Given the description of an element on the screen output the (x, y) to click on. 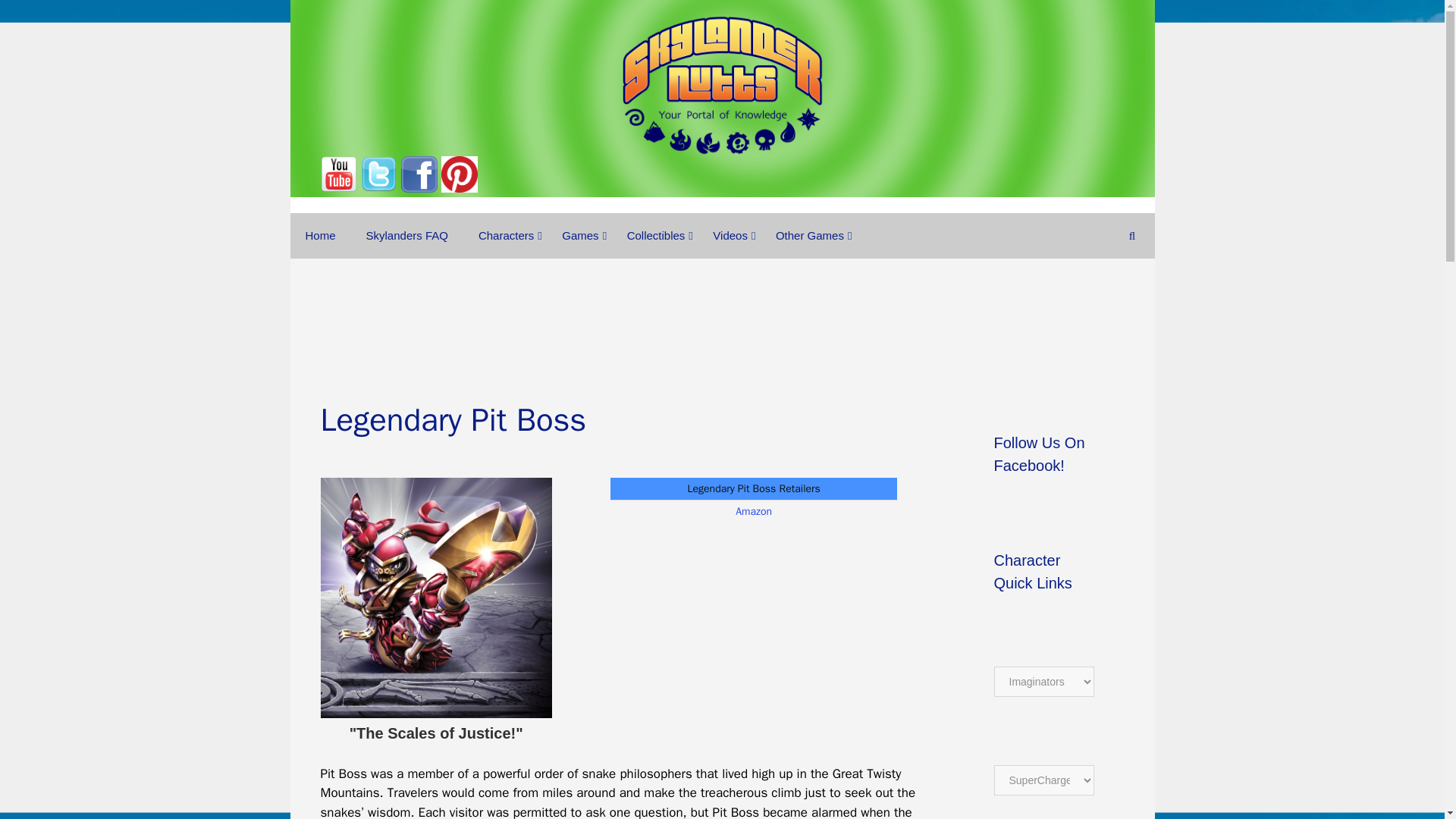
Legendary Pit Boss (435, 597)
Home (319, 235)
Characters (505, 235)
Collectibles (654, 235)
Games (579, 235)
Skylanders FAQ (406, 235)
Advertisement (722, 311)
